Given the description of an element on the screen output the (x, y) to click on. 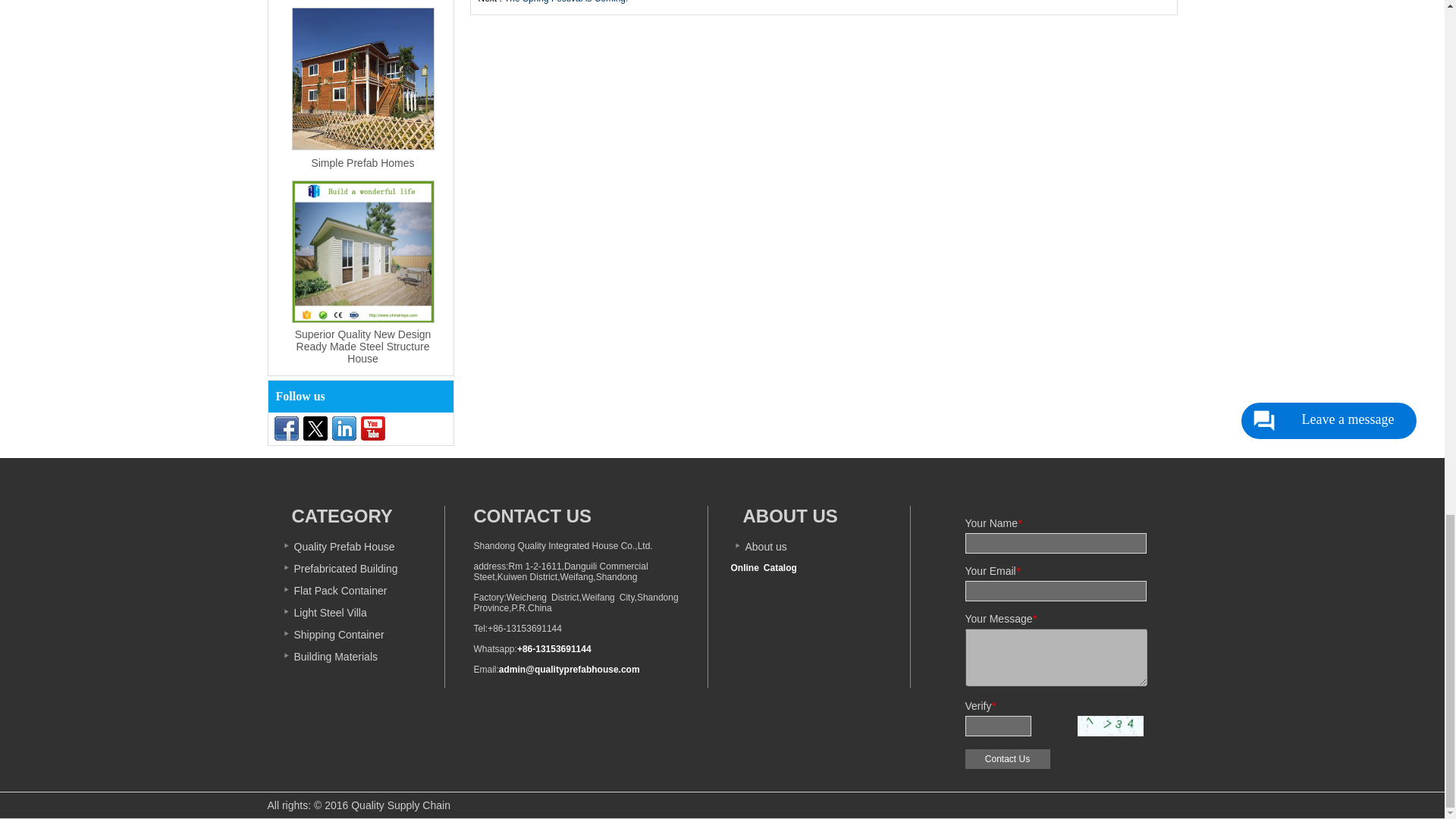
 Contact Us  (1006, 759)
